Given the description of an element on the screen output the (x, y) to click on. 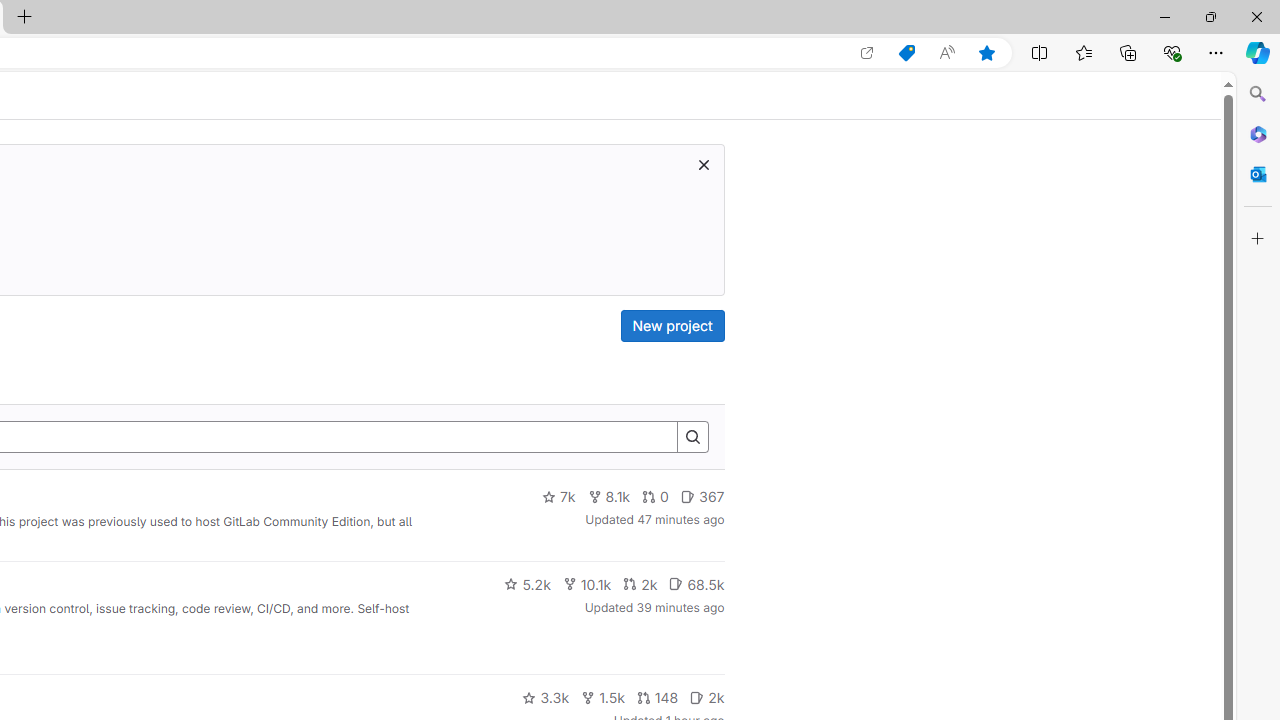
Class: s16 gl-icon gl-button-icon  (703, 164)
Shopping in Microsoft Edge (906, 53)
10.1k (586, 583)
2k (706, 697)
1.5k (602, 697)
3.3k (545, 697)
7k (558, 497)
Dismiss trial promotion (703, 164)
